Given the description of an element on the screen output the (x, y) to click on. 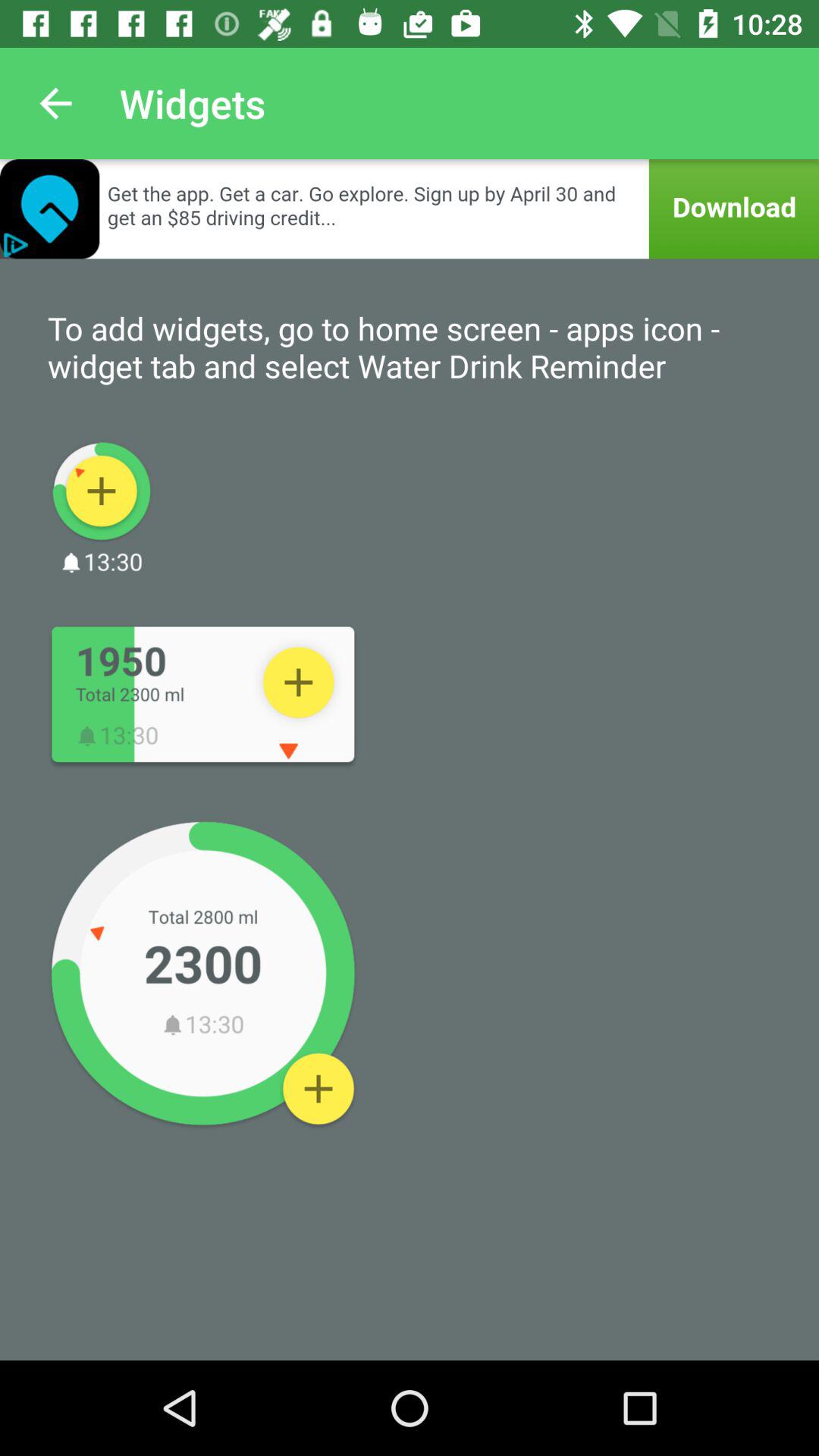
choose the icon next to the widgets icon (55, 103)
